Given the description of an element on the screen output the (x, y) to click on. 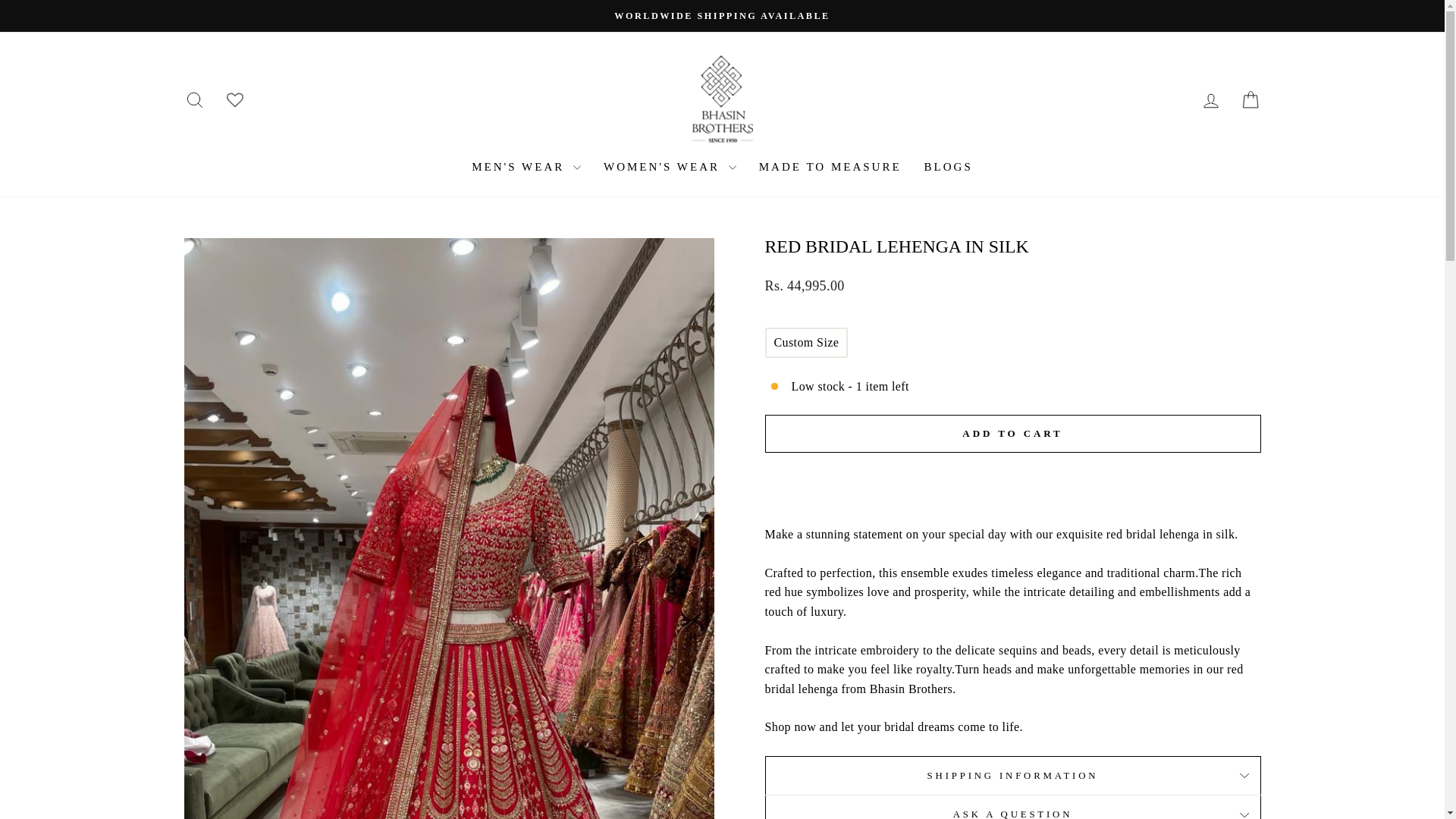
ICON-SEARCH (194, 99)
ACCOUNT (1210, 99)
CART (1210, 100)
